Given the description of an element on the screen output the (x, y) to click on. 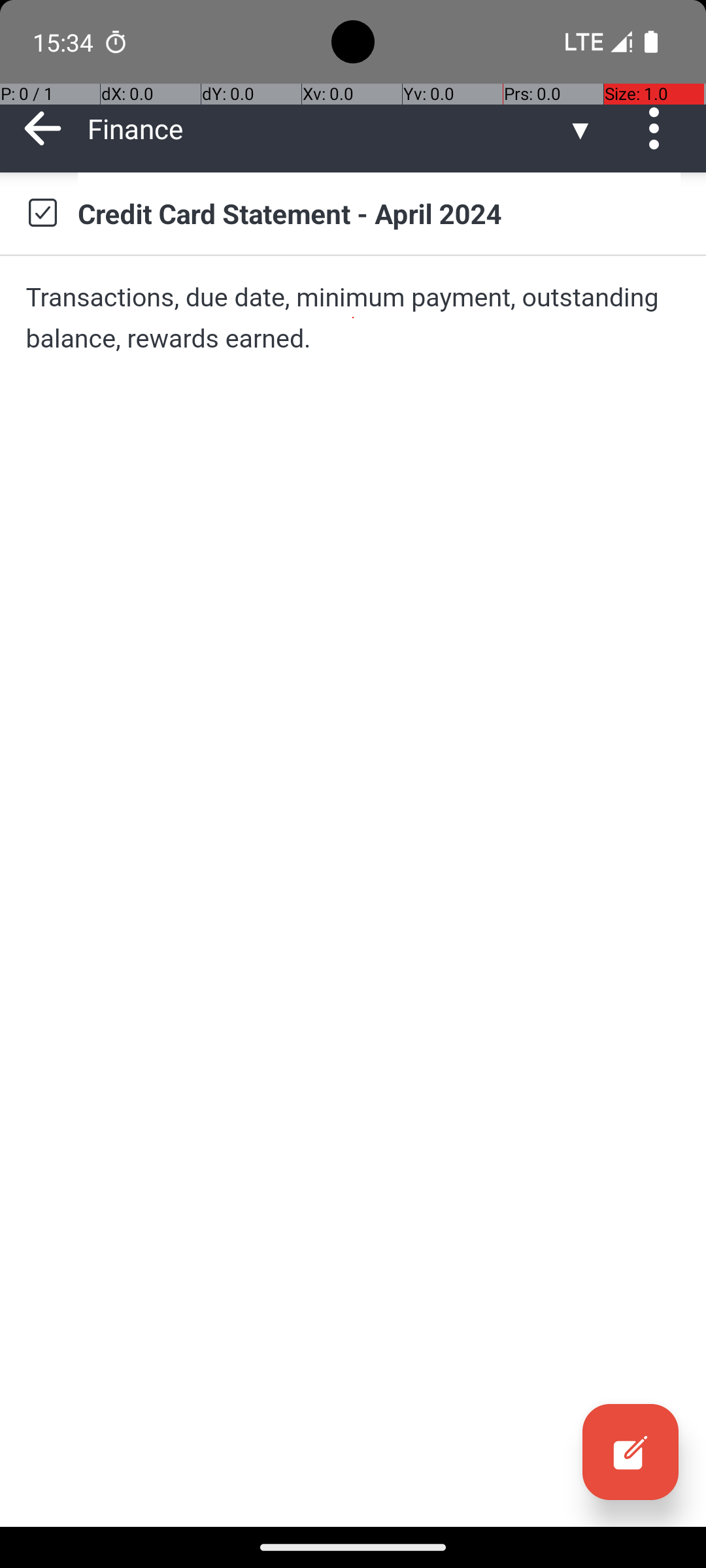
Credit Card Statement - April 2024 Element type: android.widget.EditText (378, 213)
 Element type: android.widget.TextView (42, 212)
Transactions, due date, minimum payment, outstanding balance, rewards earned. Element type: android.widget.TextView (352, 317)
